Given the description of an element on the screen output the (x, y) to click on. 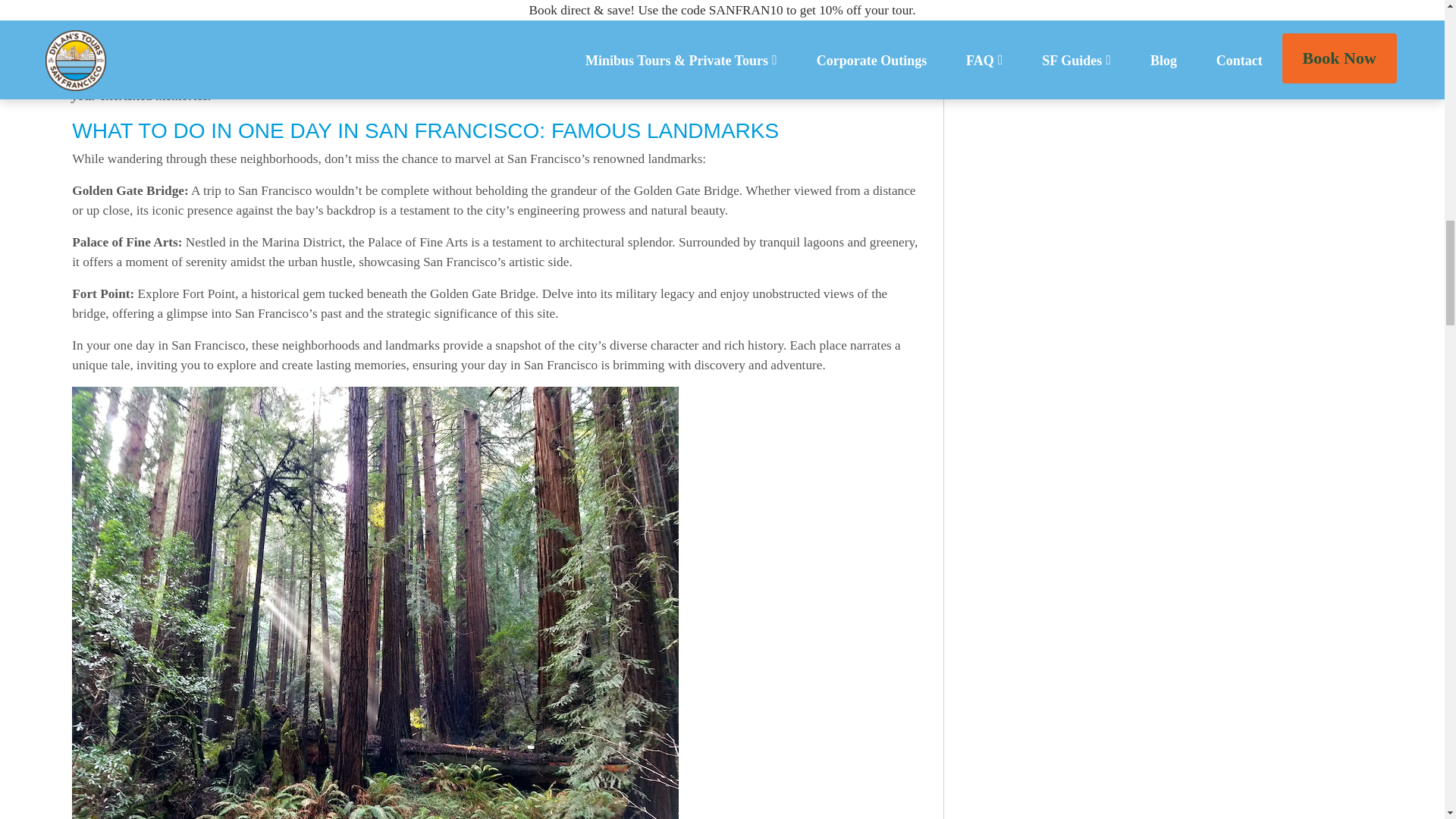
Secure your spot now (610, 75)
